Given the description of an element on the screen output the (x, y) to click on. 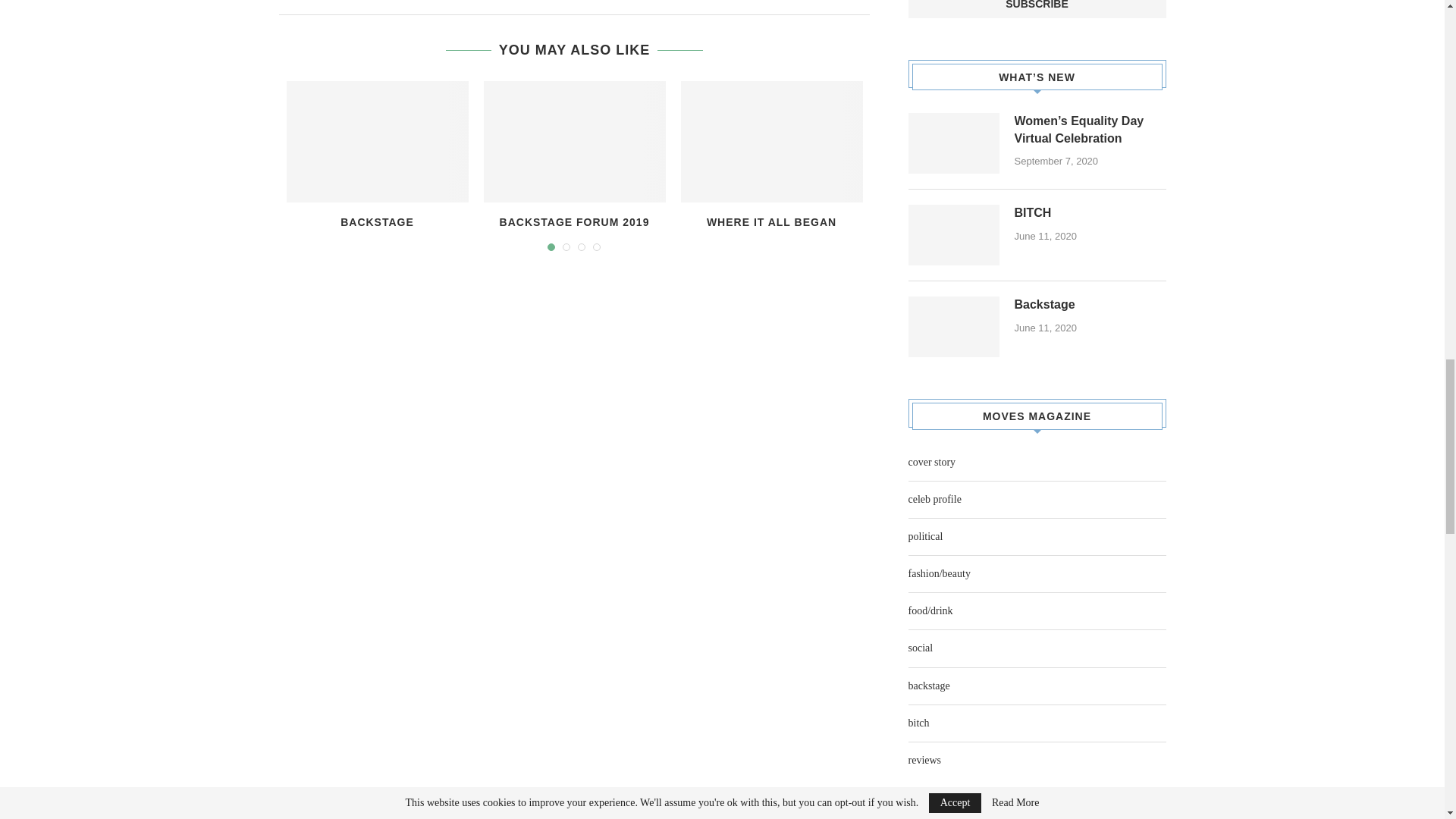
Backstage Forum 2019 (574, 141)
Where it all began (772, 141)
Backstage (377, 141)
Subscribe (1037, 9)
